Given the description of an element on the screen output the (x, y) to click on. 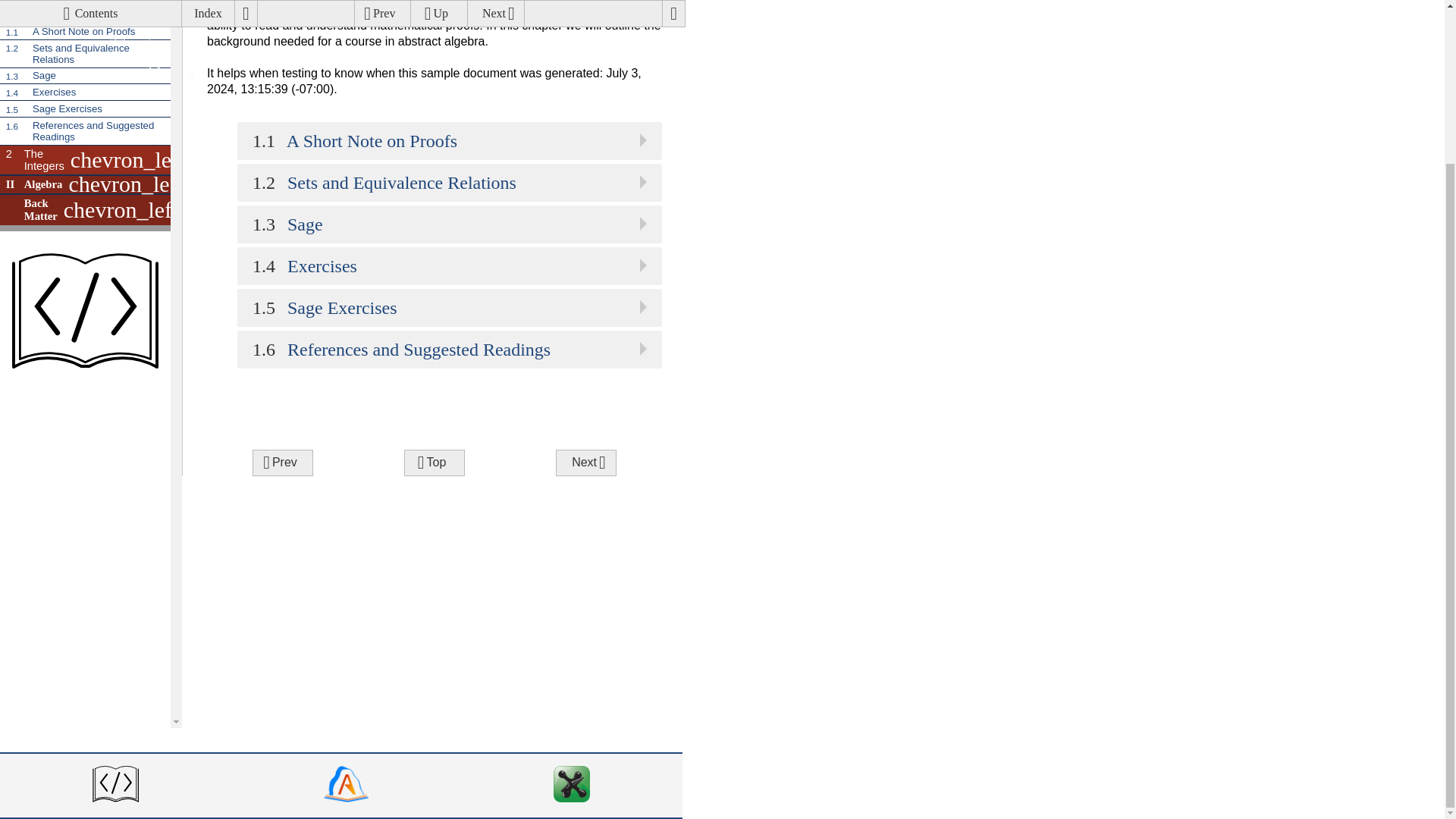
Expand part (125, 139)
Expand backmatter (85, 30)
Expand chapter (85, 46)
